Given the description of an element on the screen output the (x, y) to click on. 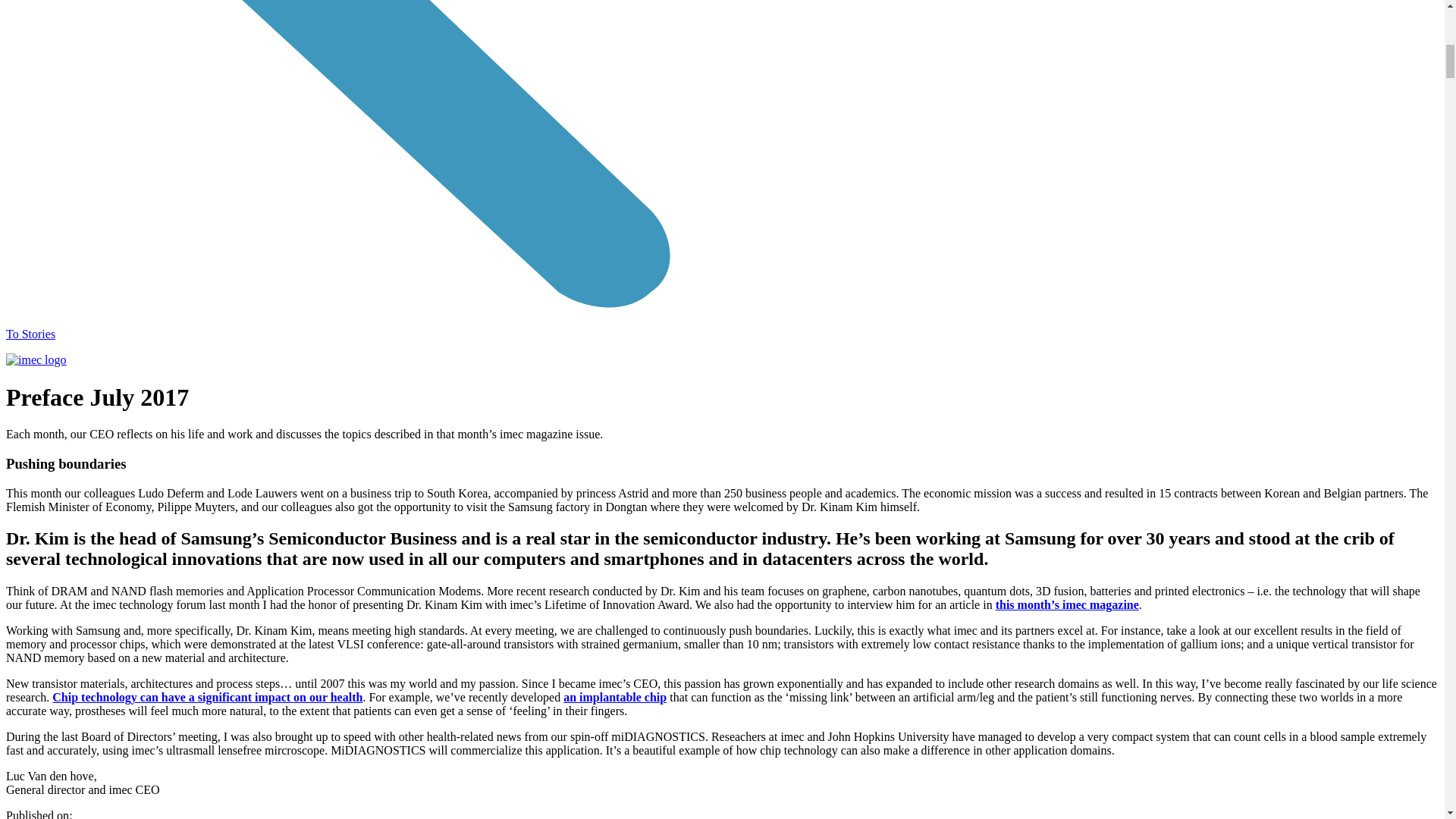
Chip technology can have a significant impact on our health (207, 697)
an implantable chip (614, 697)
